Given the description of an element on the screen output the (x, y) to click on. 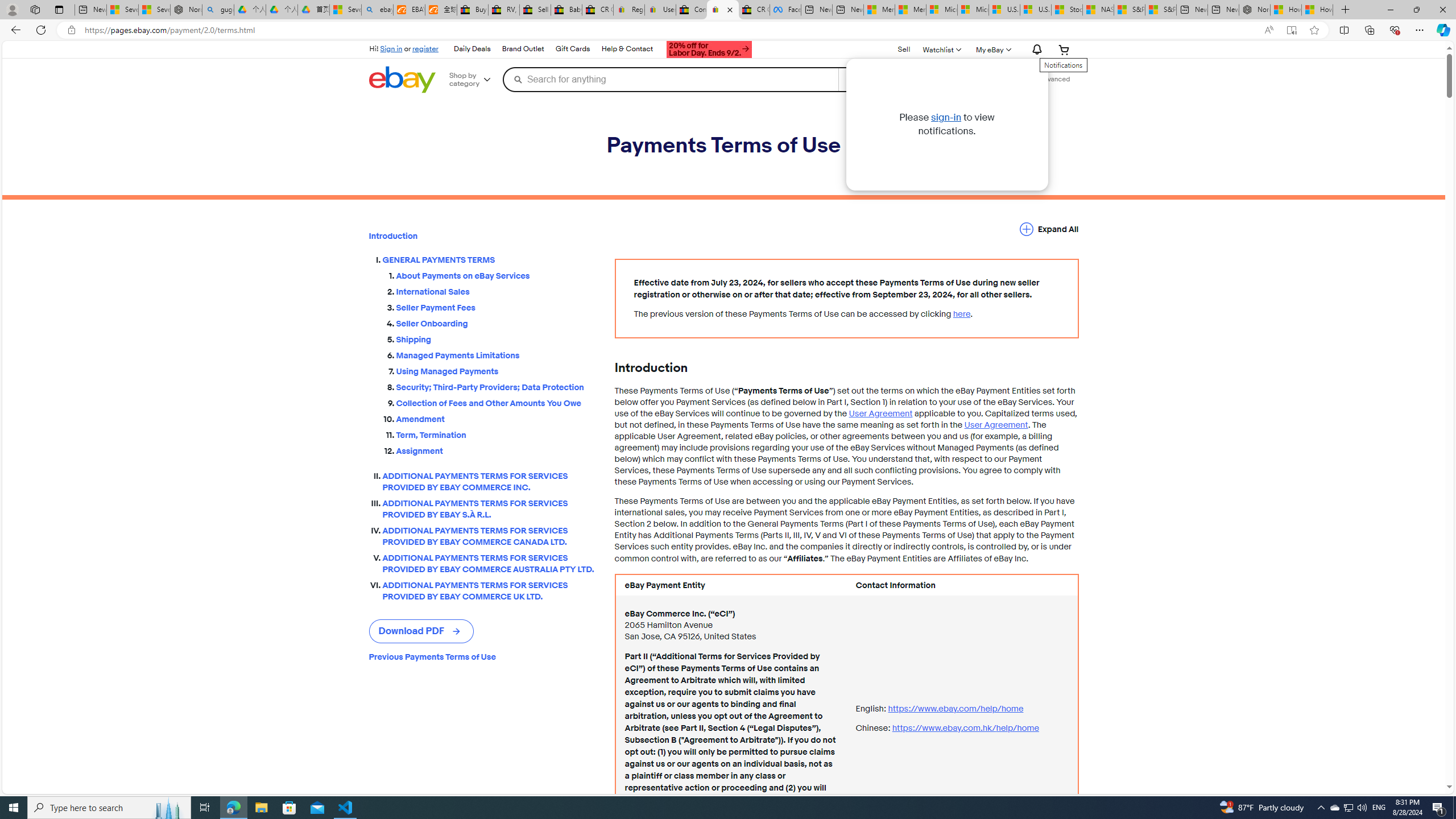
Seller Payment Fees (496, 305)
Seller Onboarding (496, 321)
User Privacy Notice | eBay (660, 9)
Select a category for search (884, 78)
Please sign-in to view notifications. (946, 124)
Term, Termination (496, 435)
Gift Cards (571, 49)
Expand Cart (1064, 49)
Facebook (785, 9)
